Given the description of an element on the screen output the (x, y) to click on. 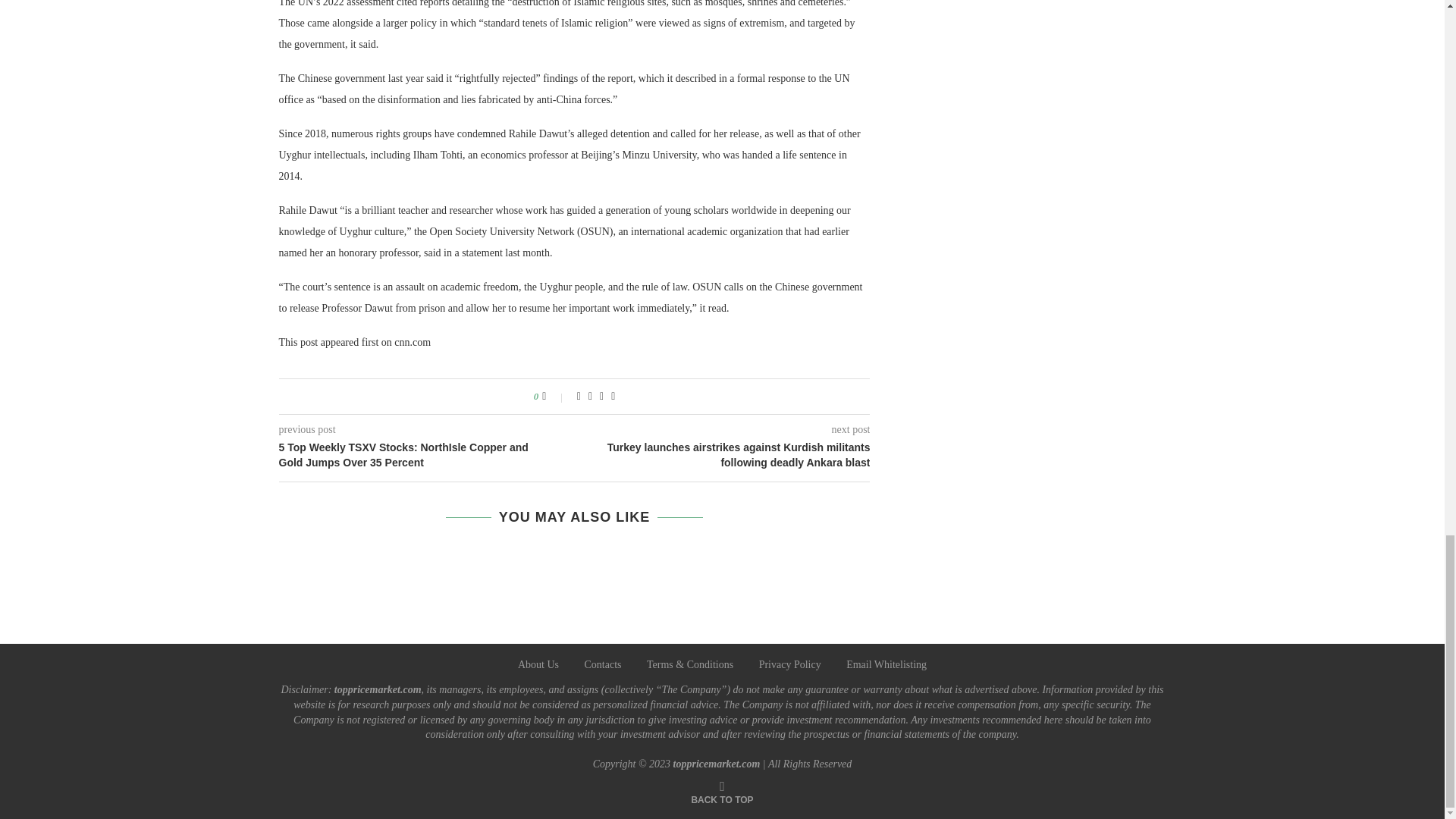
Like (553, 396)
